Given the description of an element on the screen output the (x, y) to click on. 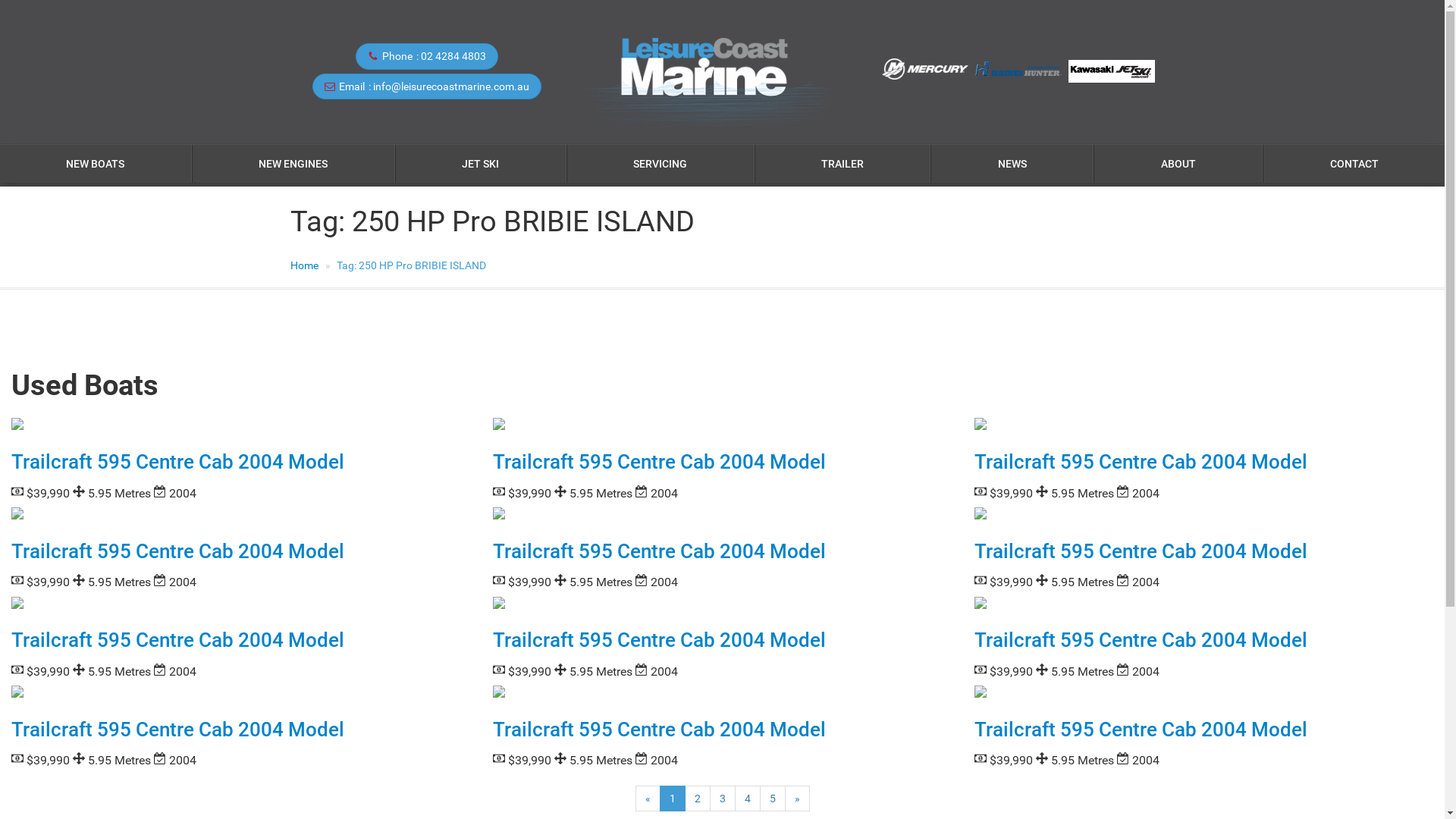
Trailcraft 595 Centre Cab 2004 Model Element type: text (658, 461)
4 Element type: text (746, 798)
NEW ENGINES Element type: text (293, 163)
JET SKI Element type: text (480, 163)
NEWS Element type: text (1011, 163)
2 Element type: text (696, 798)
ABOUT Element type: text (1177, 163)
info@leisurecoastmarine.com.au Element type: text (451, 86)
Trailcraft 595 Centre Cab 2004 Model Element type: text (658, 639)
3 Element type: text (722, 798)
NEW BOATS Element type: text (95, 163)
Trailcraft 595 Centre Cab 2004 Model Element type: text (1140, 461)
5 Element type: text (772, 798)
Trailcraft 595 Centre Cab 2004 Model Element type: text (658, 550)
Trailcraft 595 Centre Cab 2004 Model Element type: text (1140, 729)
02 4284 4803 Element type: text (452, 56)
Trailcraft 595 Centre Cab 2004 Model Element type: text (177, 639)
Trailcraft 595 Centre Cab 2004 Model Element type: text (1140, 639)
Trailcraft 595 Centre Cab 2004 Model Element type: text (177, 461)
1
(current) Element type: text (672, 798)
Trailcraft 595 Centre Cab 2004 Model Element type: text (177, 550)
SERVICING Element type: text (660, 163)
Home Element type: text (303, 265)
Trailcraft 595 Centre Cab 2004 Model Element type: text (177, 729)
Trailcraft 595 Centre Cab 2004 Model Element type: text (1140, 550)
CONTACT Element type: text (1353, 163)
Trailcraft 595 Centre Cab 2004 Model Element type: text (658, 729)
TRAILER Element type: text (842, 163)
